Given the description of an element on the screen output the (x, y) to click on. 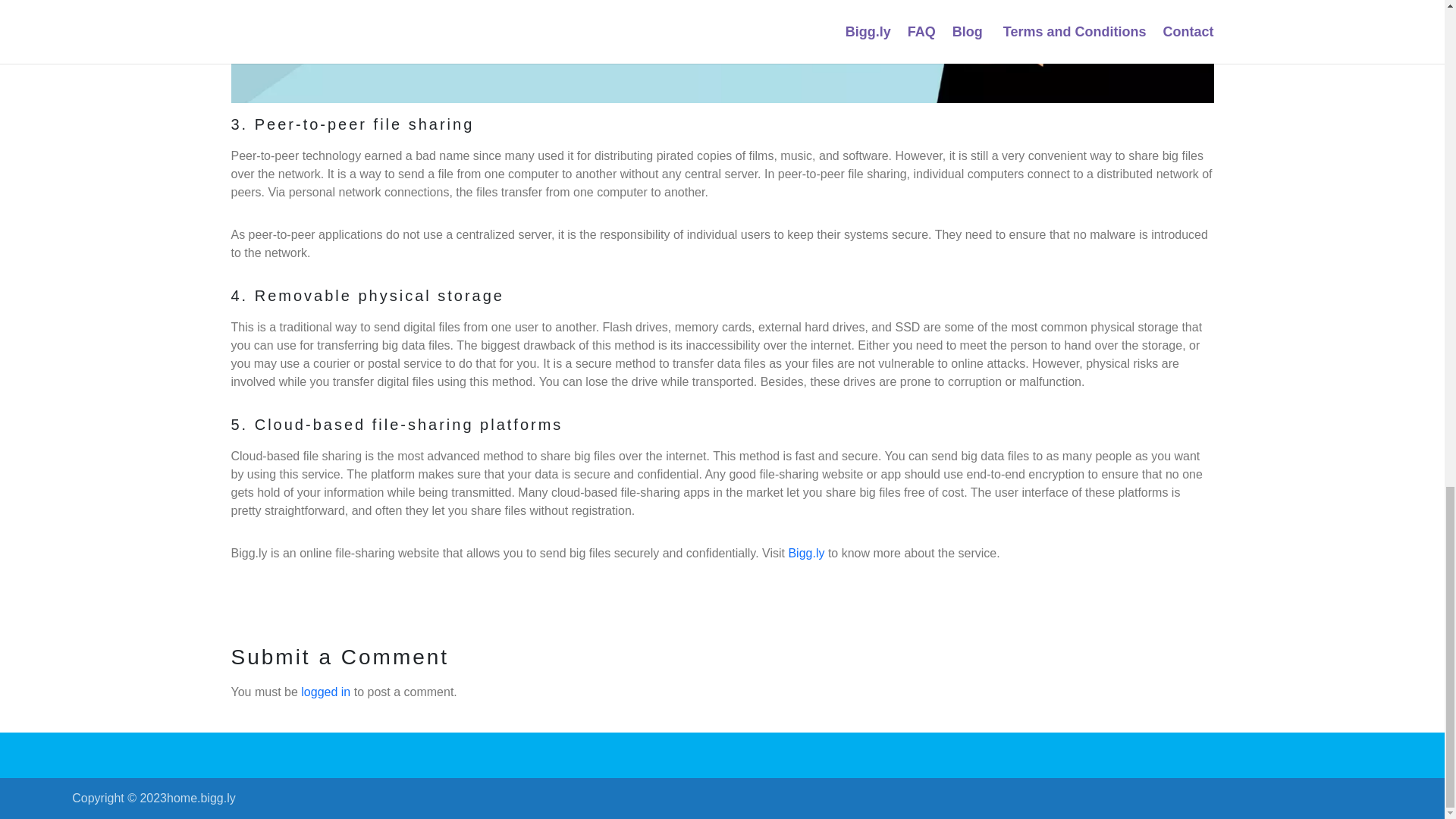
5waystosharedigitalfiles-bigg.ly (721, 51)
Bigg.ly (805, 553)
logged in (325, 691)
